Given the description of an element on the screen output the (x, y) to click on. 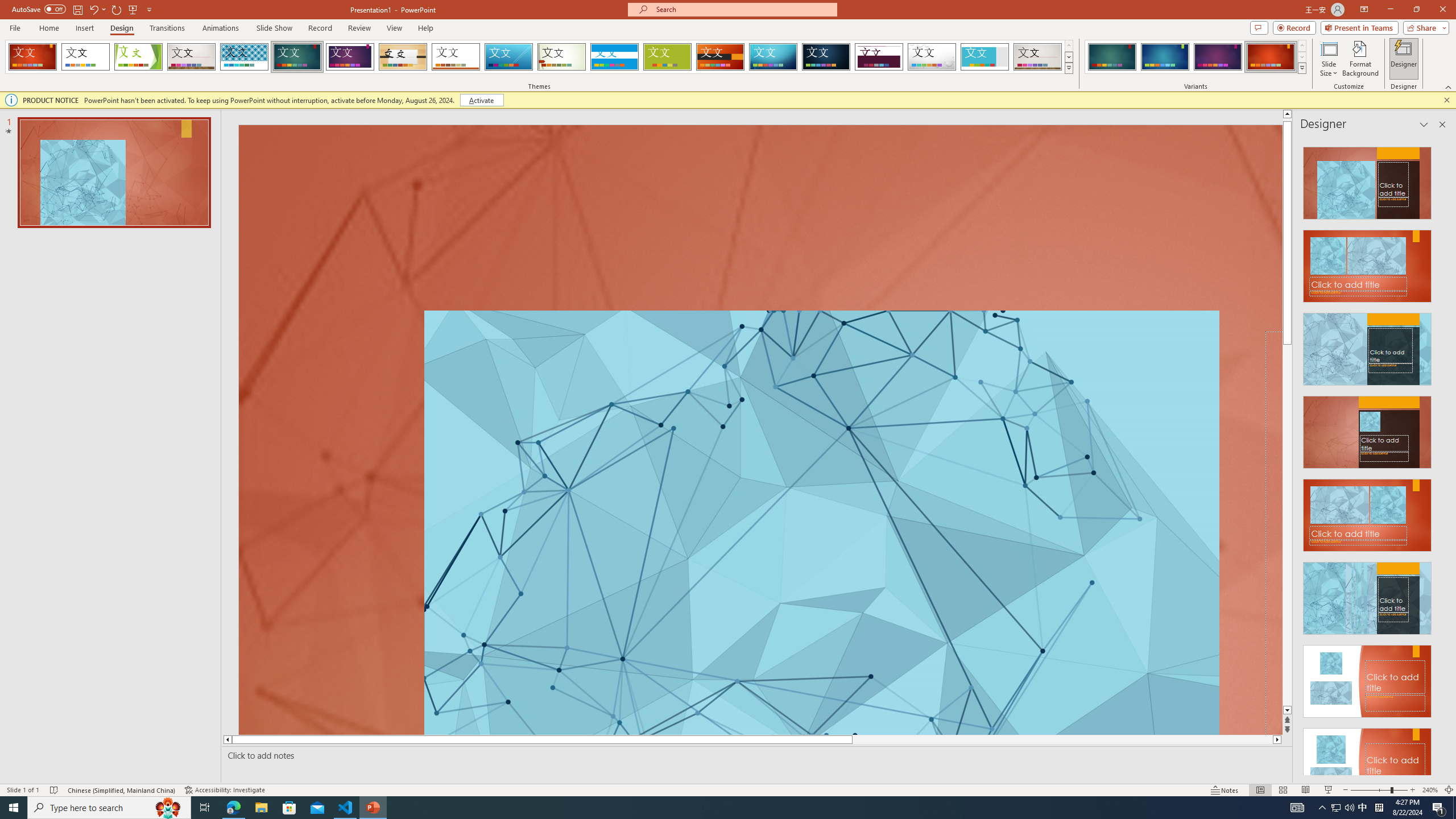
Class: NetUIScrollBar (1441, 456)
Circuit (772, 56)
